Given the description of an element on the screen output the (x, y) to click on. 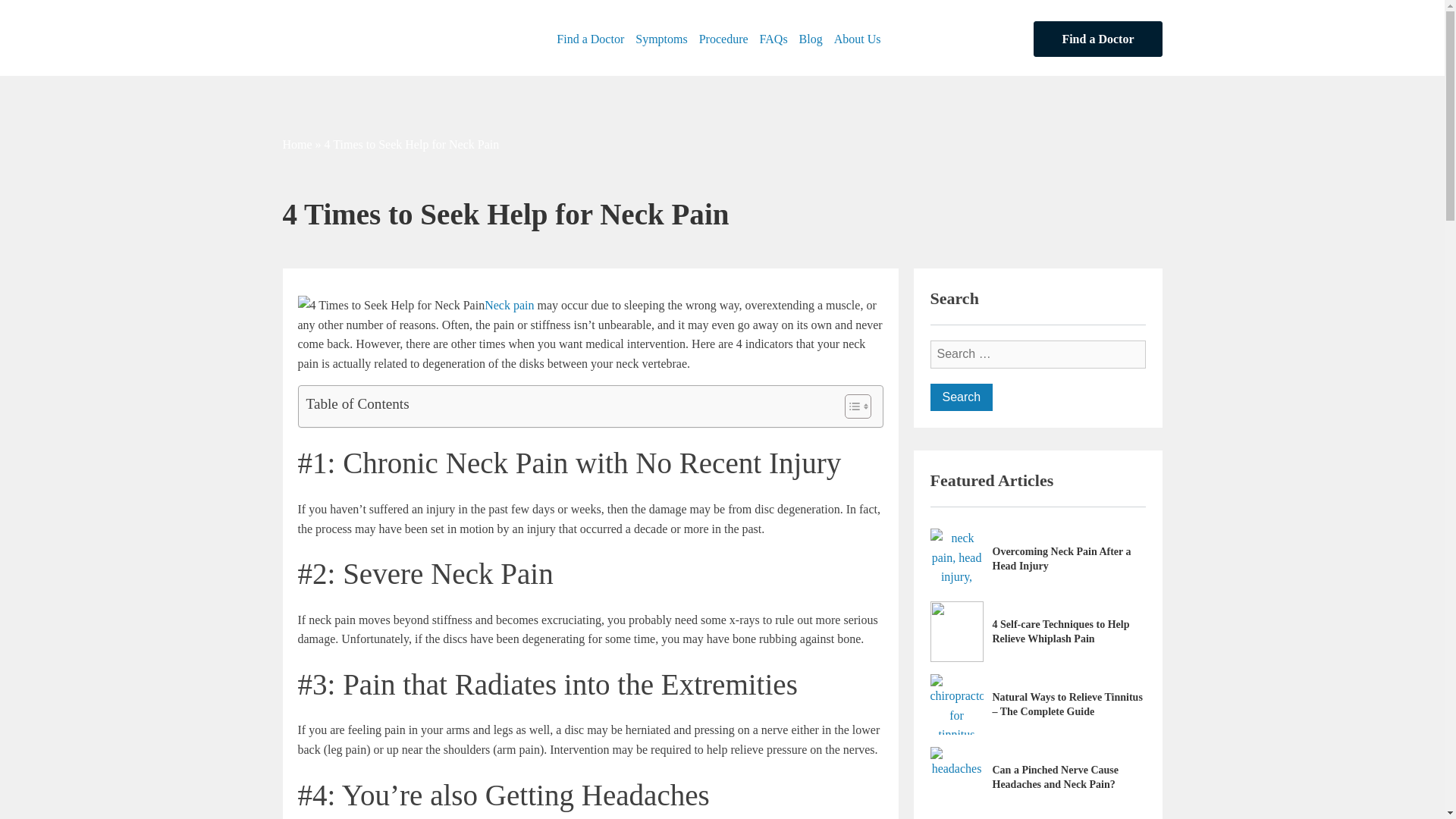
Search (961, 397)
Procedure (729, 39)
Search (961, 397)
Home (296, 144)
FAQs (779, 39)
4 Times to Seek Help for Neck Pain (390, 305)
Find a Doctor (1097, 39)
Neck pain (509, 305)
Search (961, 397)
Symptoms (666, 39)
